Given the description of an element on the screen output the (x, y) to click on. 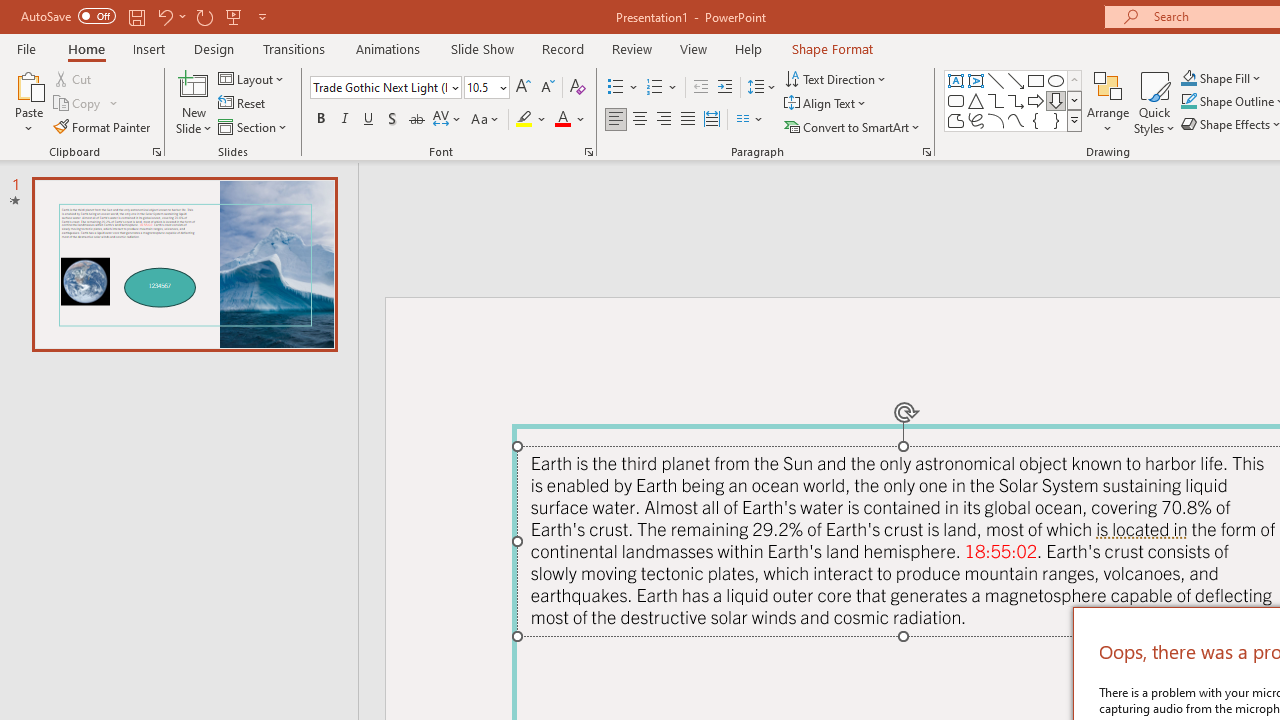
Shape Outline Teal, Accent 1 (1188, 101)
Shape Fill Aqua, Accent 2 (1188, 78)
